Given the description of an element on the screen output the (x, y) to click on. 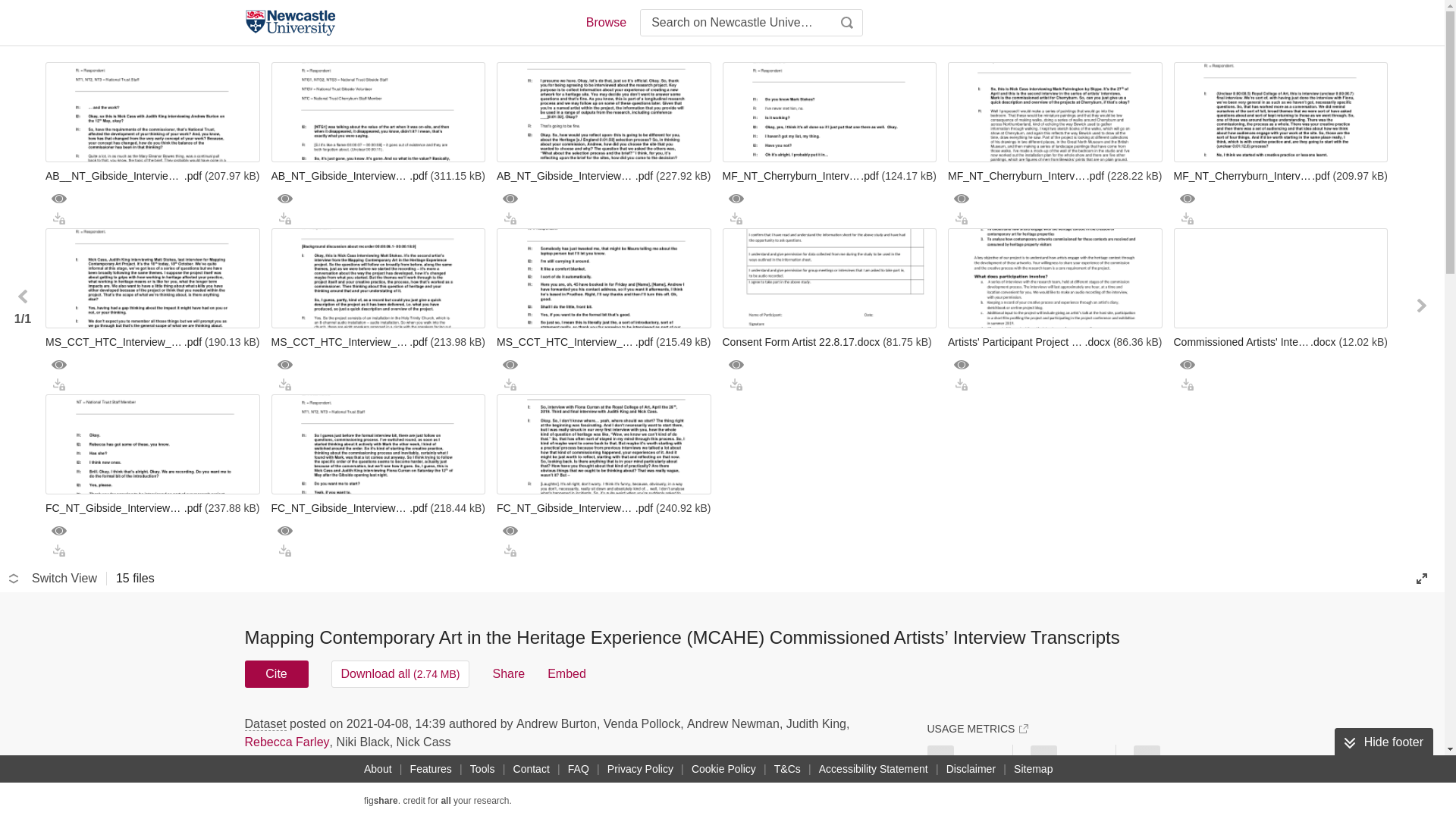
Browse (605, 22)
Consent Form Artist 22.8.17.docx (829, 341)
Artists' Participant Project Information sheet 16.08.17.docx (1054, 341)
Commissioned Artists' Interviews and Transcripts Key.docx (1281, 341)
